Given the description of an element on the screen output the (x, y) to click on. 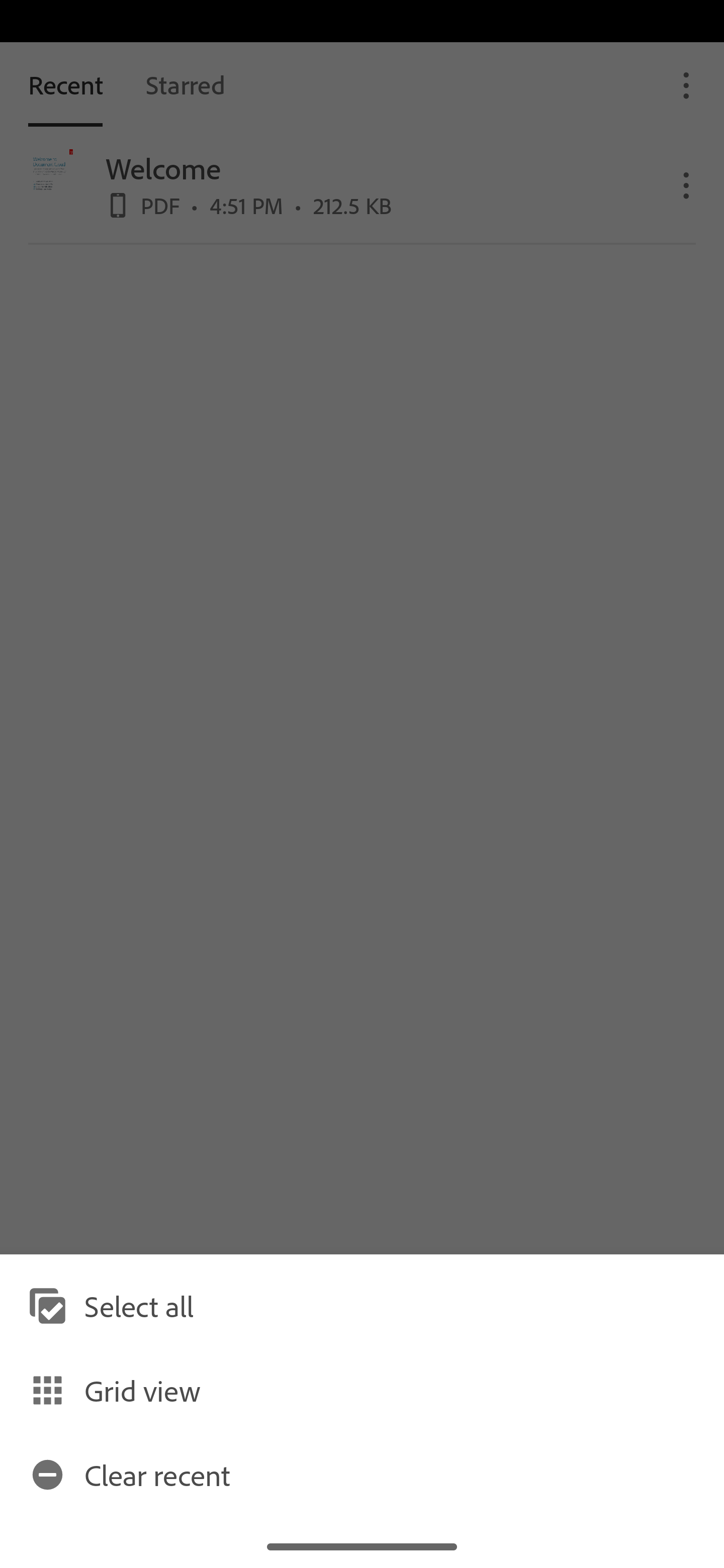
Select all (362, 1305)
Grid view (362, 1389)
Clear recent (362, 1473)
